Given the description of an element on the screen output the (x, y) to click on. 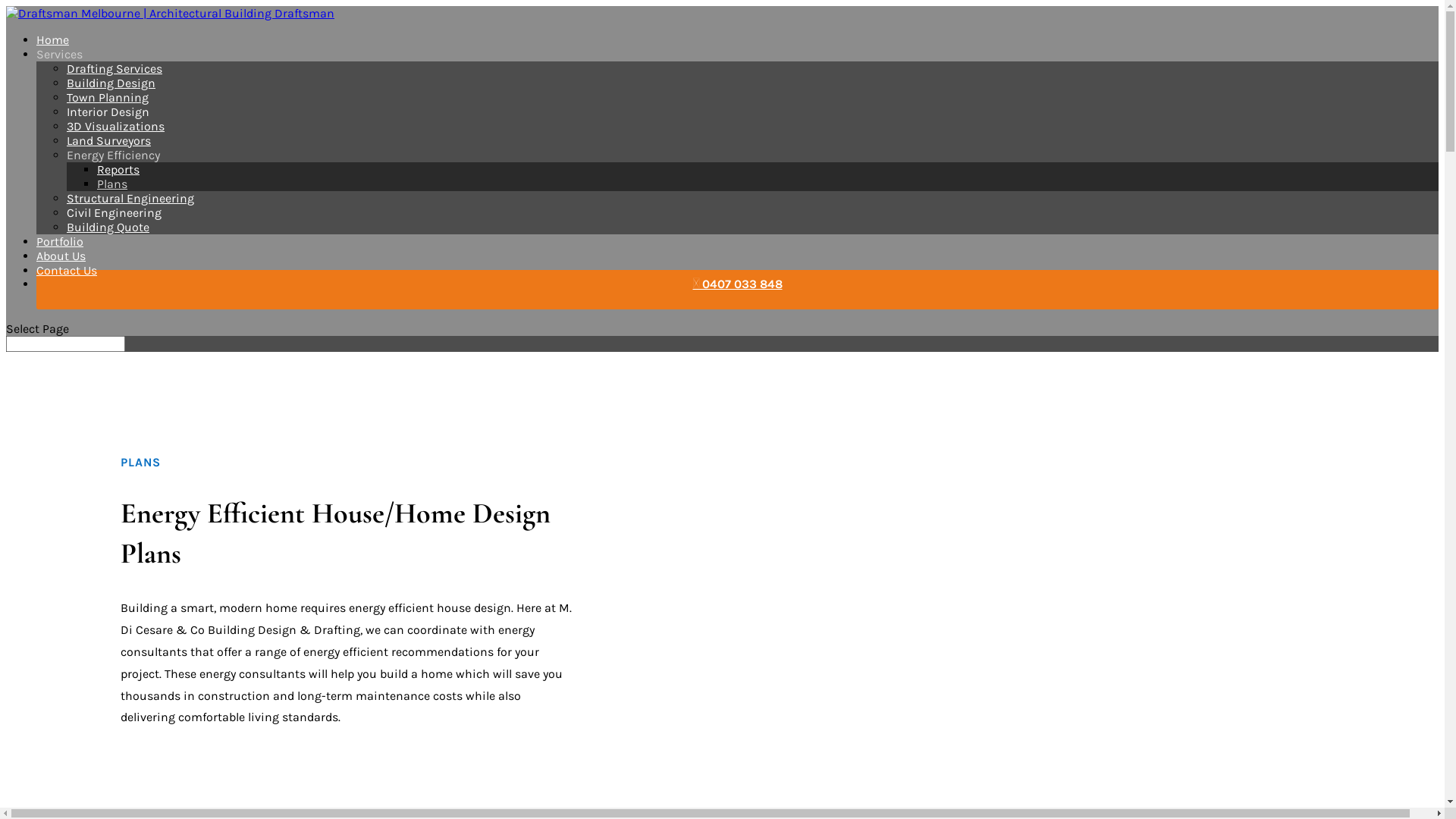
Energy Efficiency Element type: text (113, 154)
Interior Design Element type: text (107, 111)
3D Visualizations Element type: text (115, 126)
Portfolio Element type: text (59, 241)
Land Surveyors Element type: text (108, 140)
Town Planning Element type: text (107, 97)
Reports Element type: text (118, 169)
Drafting Services Element type: text (114, 68)
Home Element type: text (52, 39)
Building Quote Element type: text (107, 226)
Services Element type: text (59, 54)
Contact Us Element type: text (66, 270)
Structural Engineering Element type: text (130, 198)
About Us Element type: text (60, 255)
Plans Element type: text (112, 183)
Building Design Element type: text (110, 82)
Search for: Element type: hover (65, 343)
Civil Engineering Element type: text (113, 212)
